Given the description of an element on the screen output the (x, y) to click on. 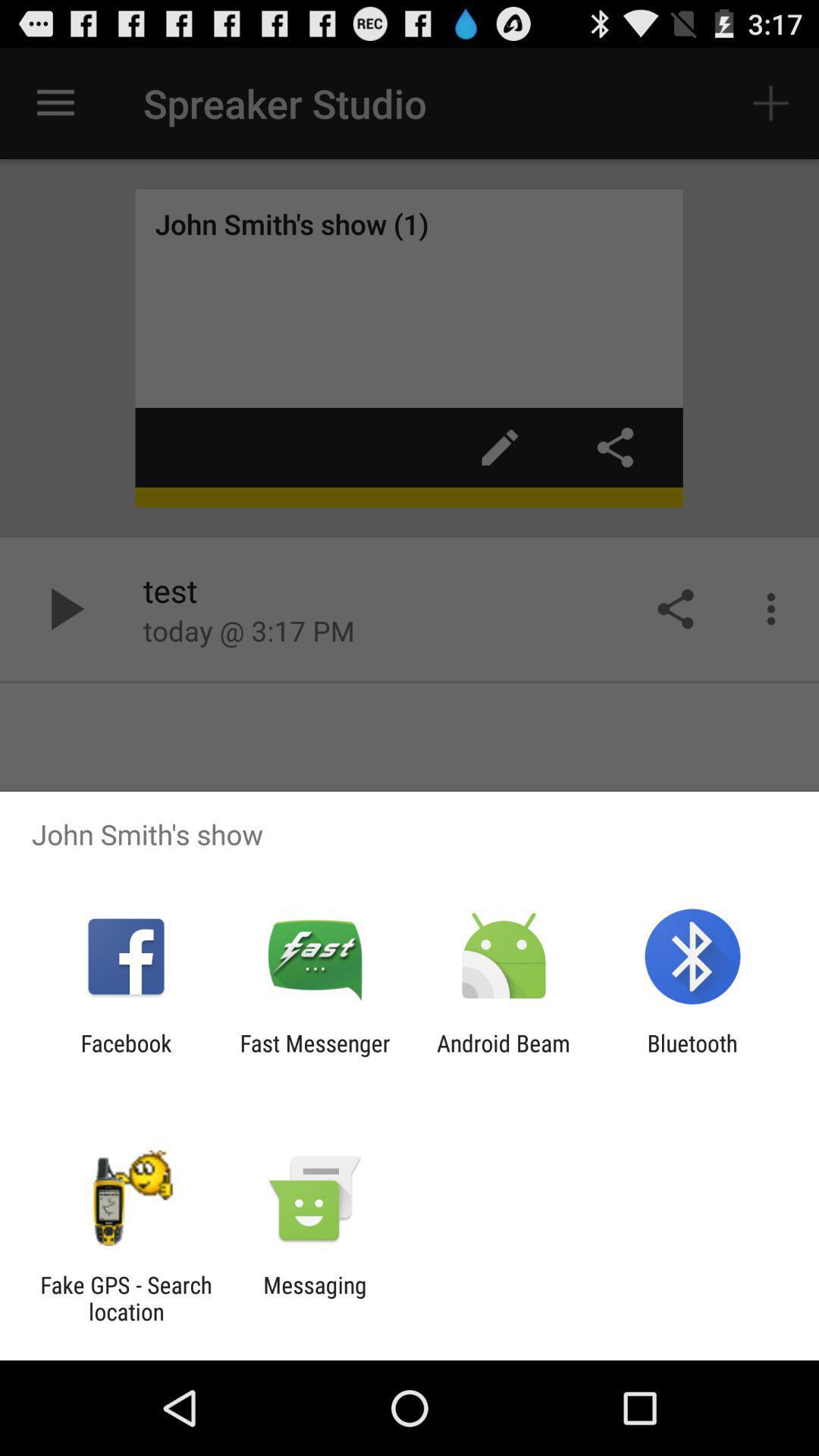
open icon next to the fake gps search item (314, 1298)
